Given the description of an element on the screen output the (x, y) to click on. 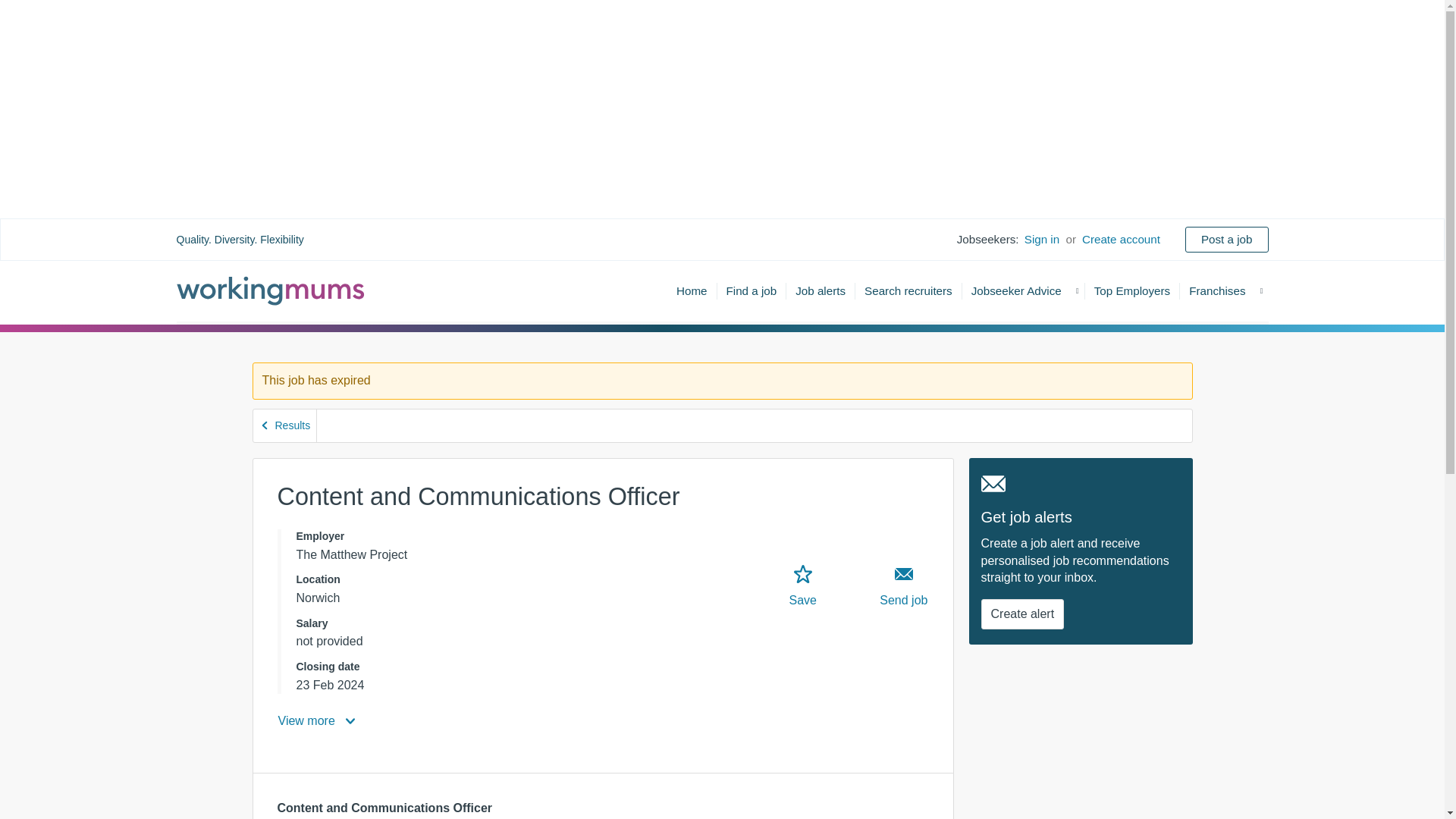
Franchises (1216, 290)
Create account (1120, 239)
Results (285, 425)
Sign in (1041, 239)
Jobseeker Advice (1016, 290)
Top Employers (1132, 290)
Job alerts (819, 290)
View more (318, 720)
Post a job (1226, 238)
Home (692, 290)
